Given the description of an element on the screen output the (x, y) to click on. 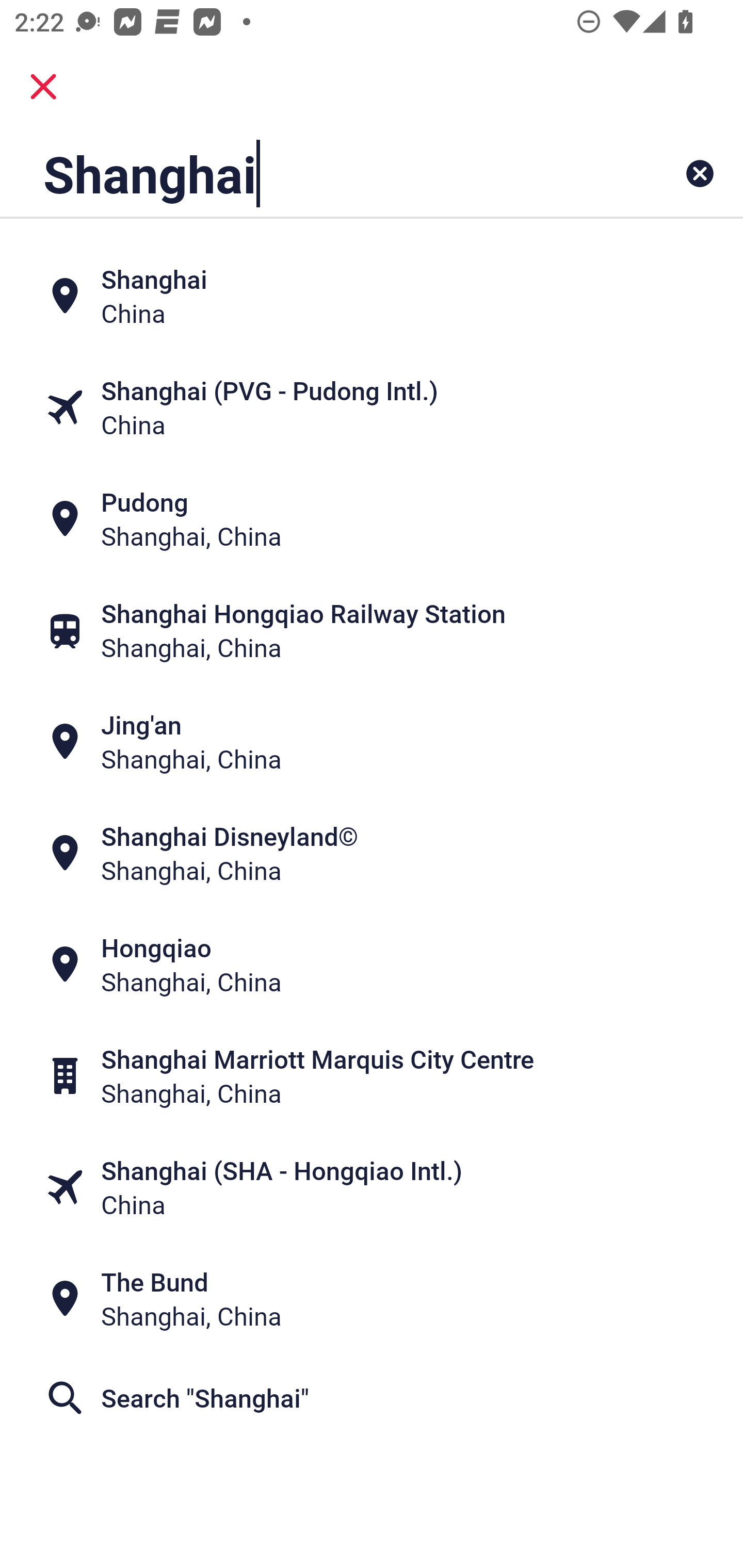
close. (43, 86)
Clear (699, 173)
Shanghai (306, 173)
Shanghai China (371, 295)
Shanghai (PVG - Pudong Intl.) China (371, 406)
Pudong Shanghai, China (371, 517)
Shanghai Hongqiao Railway Station Shanghai, China (371, 629)
Jing'an Shanghai, China (371, 742)
Shanghai Disneyland© Shanghai, China (371, 853)
Hongqiao Shanghai, China (371, 964)
Shanghai (SHA - Hongqiao Intl.) China (371, 1187)
The Bund Shanghai, China (371, 1298)
Search "Shanghai" (371, 1397)
